Given the description of an element on the screen output the (x, y) to click on. 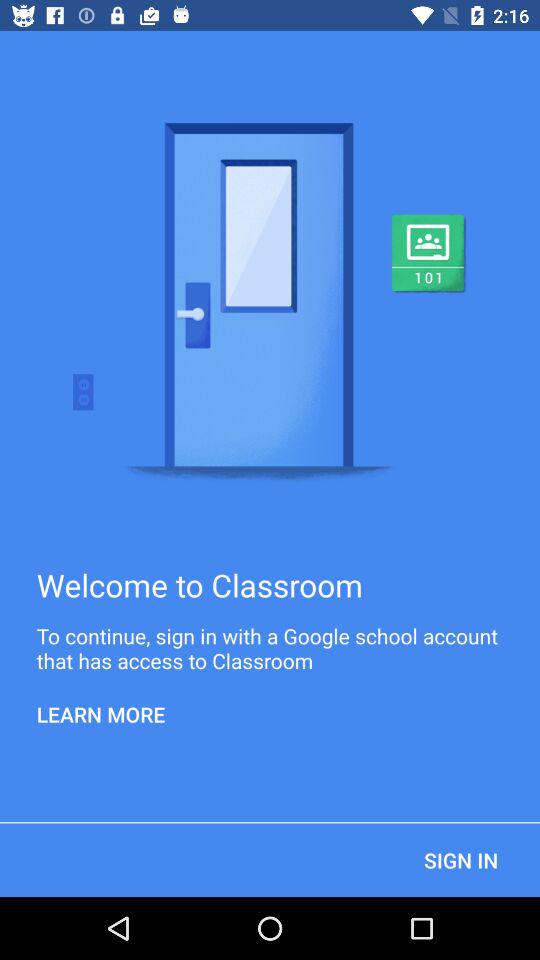
select item below the to continue sign (101, 713)
